Given the description of an element on the screen output the (x, y) to click on. 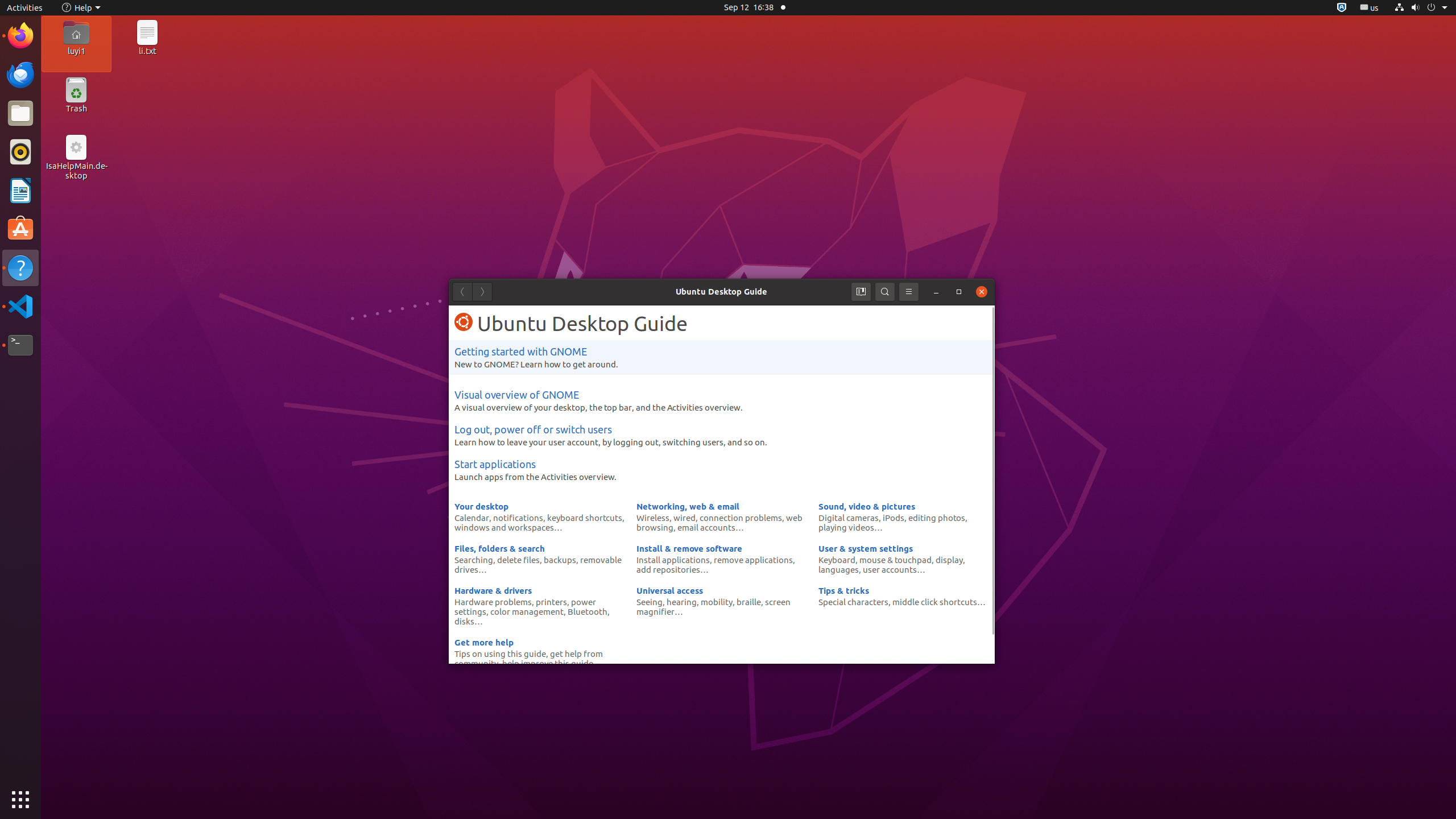
notifications Element type: link (518, 517)
removable drives Element type: link (537, 564)
mouse & touchpad Element type: link (895, 559)
add repositories Element type: link (668, 569)
middle click shortcuts Element type: link (934, 601)
